Given the description of an element on the screen output the (x, y) to click on. 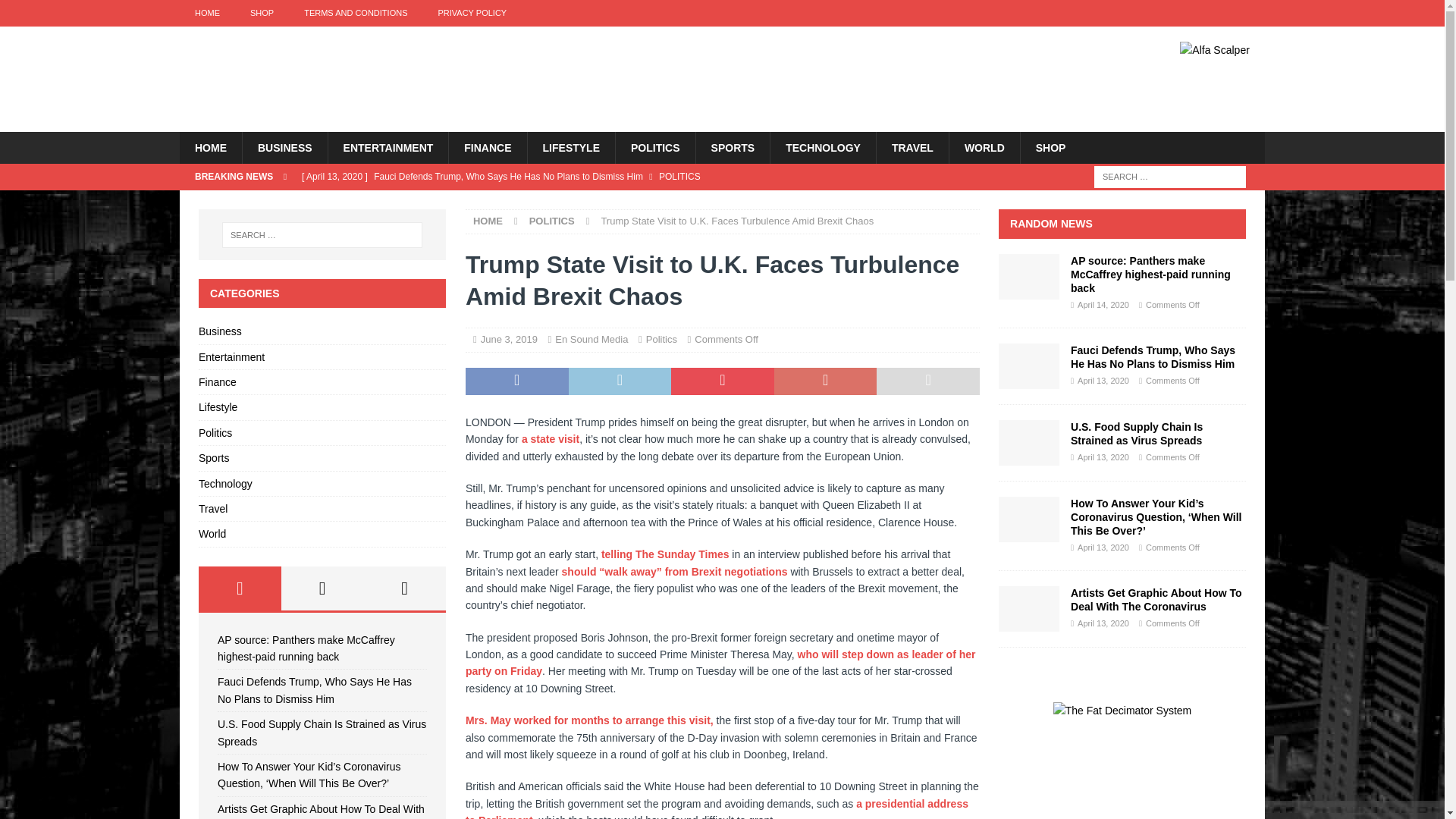
WORLD (984, 147)
TERMS AND CONDITIONS (355, 13)
ENTERTAINMENT (387, 147)
HOME (206, 13)
SHOP (261, 13)
LIFESTYLE (570, 147)
HOME (210, 147)
U.S. Food Supply Chain Is Strained as Virus Spreads (590, 202)
PRIVACY POLICY (471, 13)
TECHNOLOGY (823, 147)
BUSINESS (284, 147)
SPORTS (732, 147)
Search (56, 11)
Fauci Defends Trump, Who Says He Has No Plans to Dismiss Him (590, 176)
TRAVEL (912, 147)
